Given the description of an element on the screen output the (x, y) to click on. 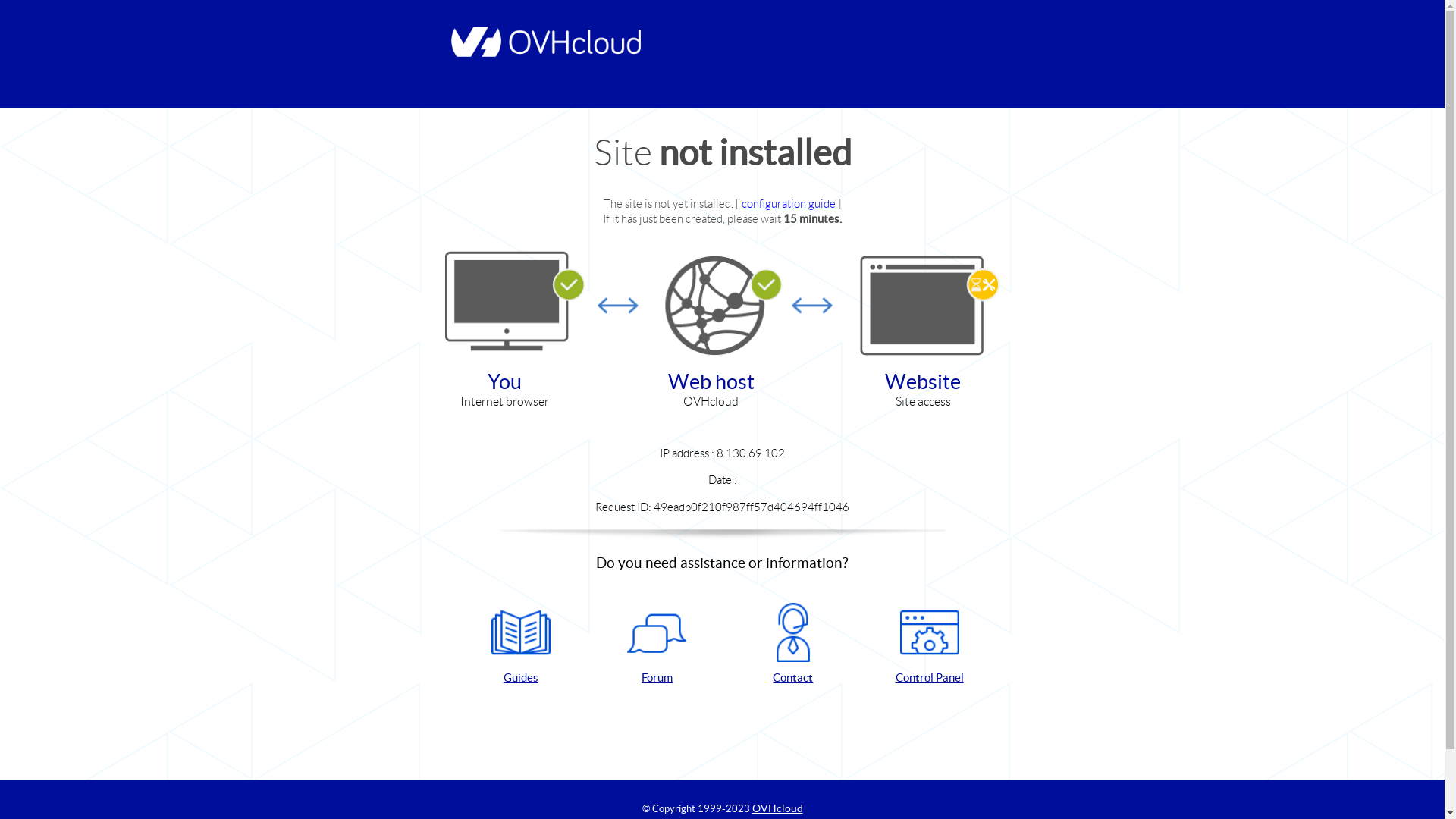
configuration guide Element type: text (789, 203)
Forum Element type: text (656, 644)
Guides Element type: text (520, 644)
Control Panel Element type: text (929, 644)
Contact Element type: text (792, 644)
OVHcloud Element type: text (777, 808)
